Given the description of an element on the screen output the (x, y) to click on. 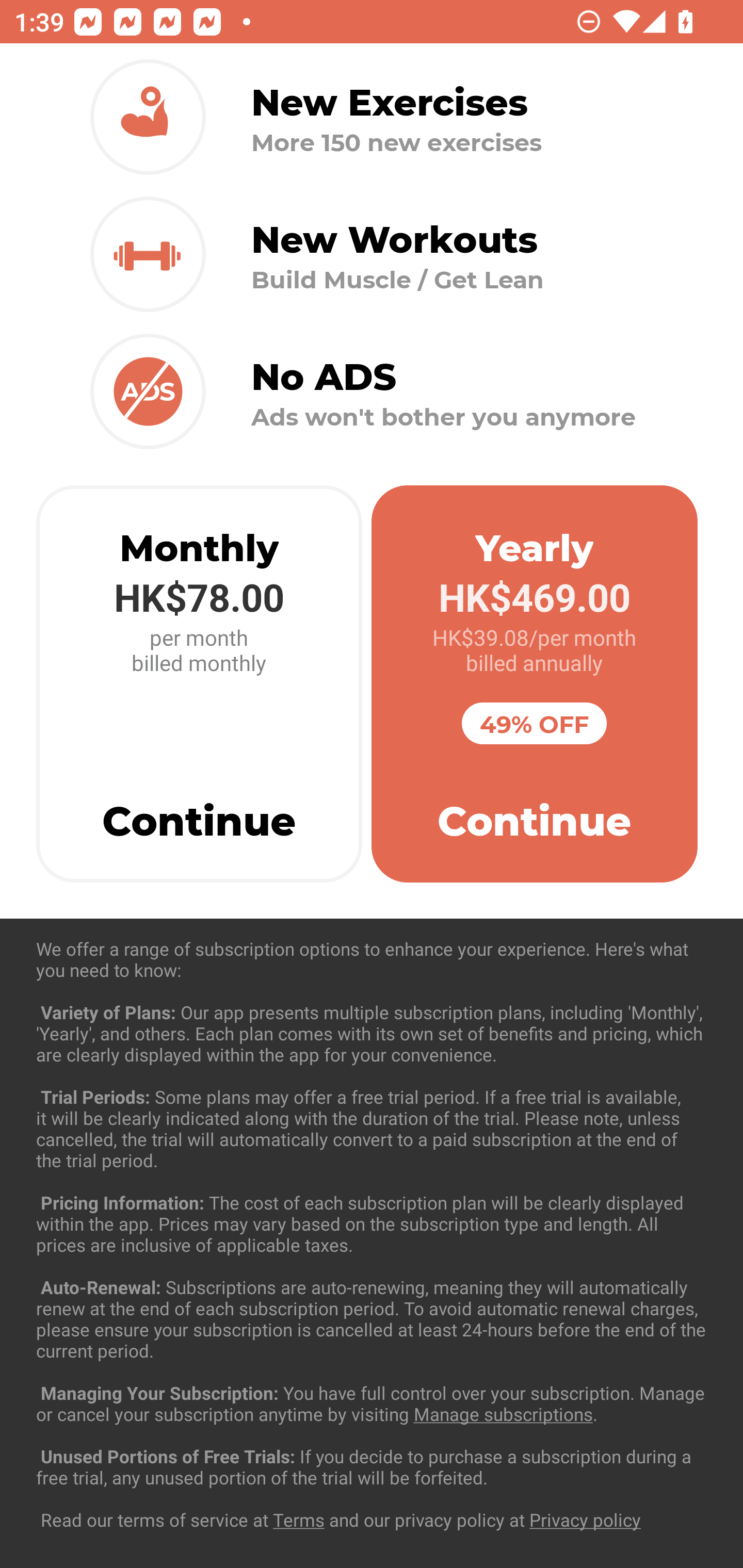
Monthly HK$78.00 per month
billed monthly Continue (199, 684)
Exercise Chest 37 exercises (371, 1033)
Exercise Forearms 4 exercises (371, 1232)
Exercise Legs 36 exercises (371, 1430)
